Given the description of an element on the screen output the (x, y) to click on. 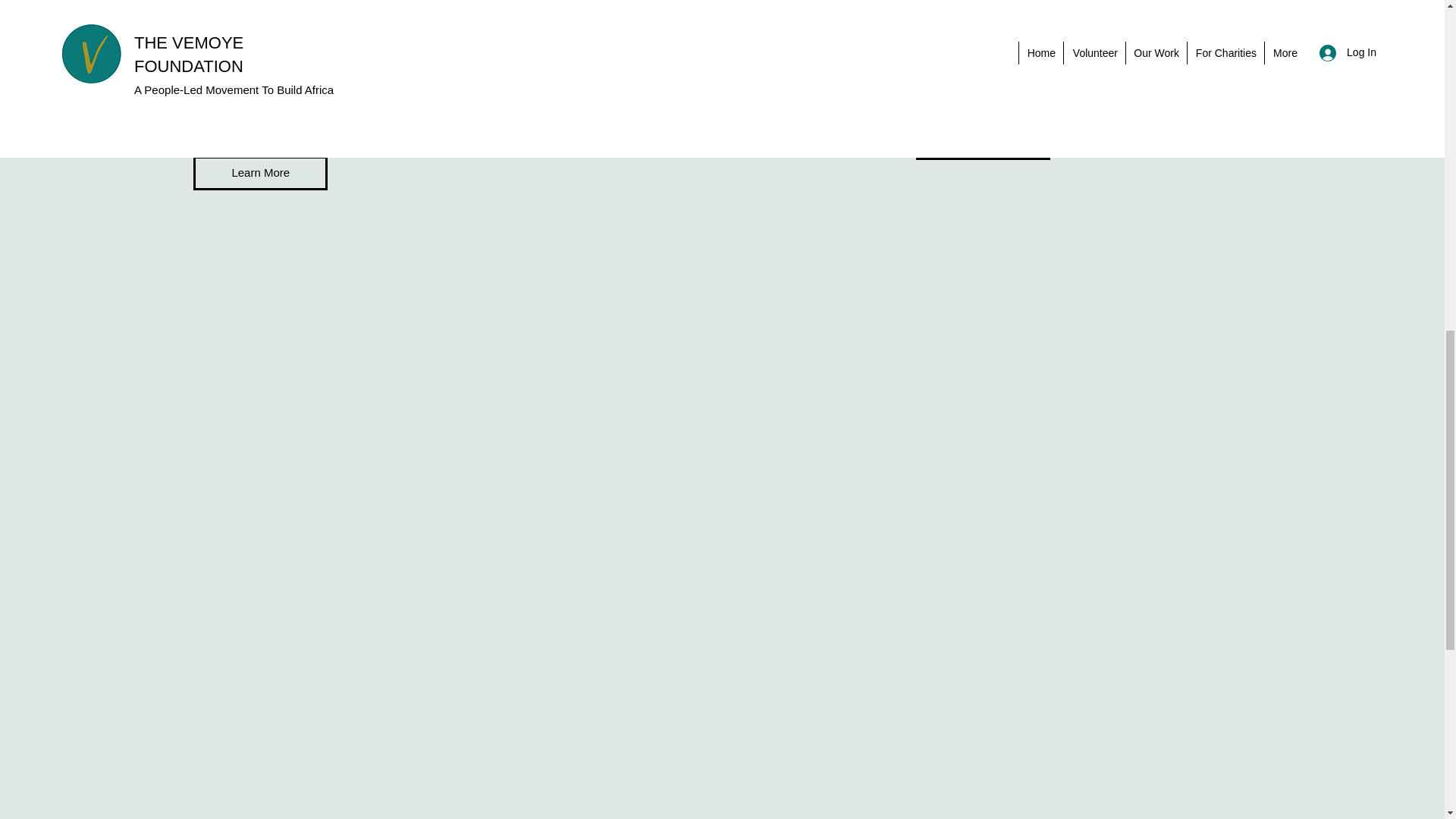
Learn More (260, 173)
Learn More (982, 142)
